Given the description of an element on the screen output the (x, y) to click on. 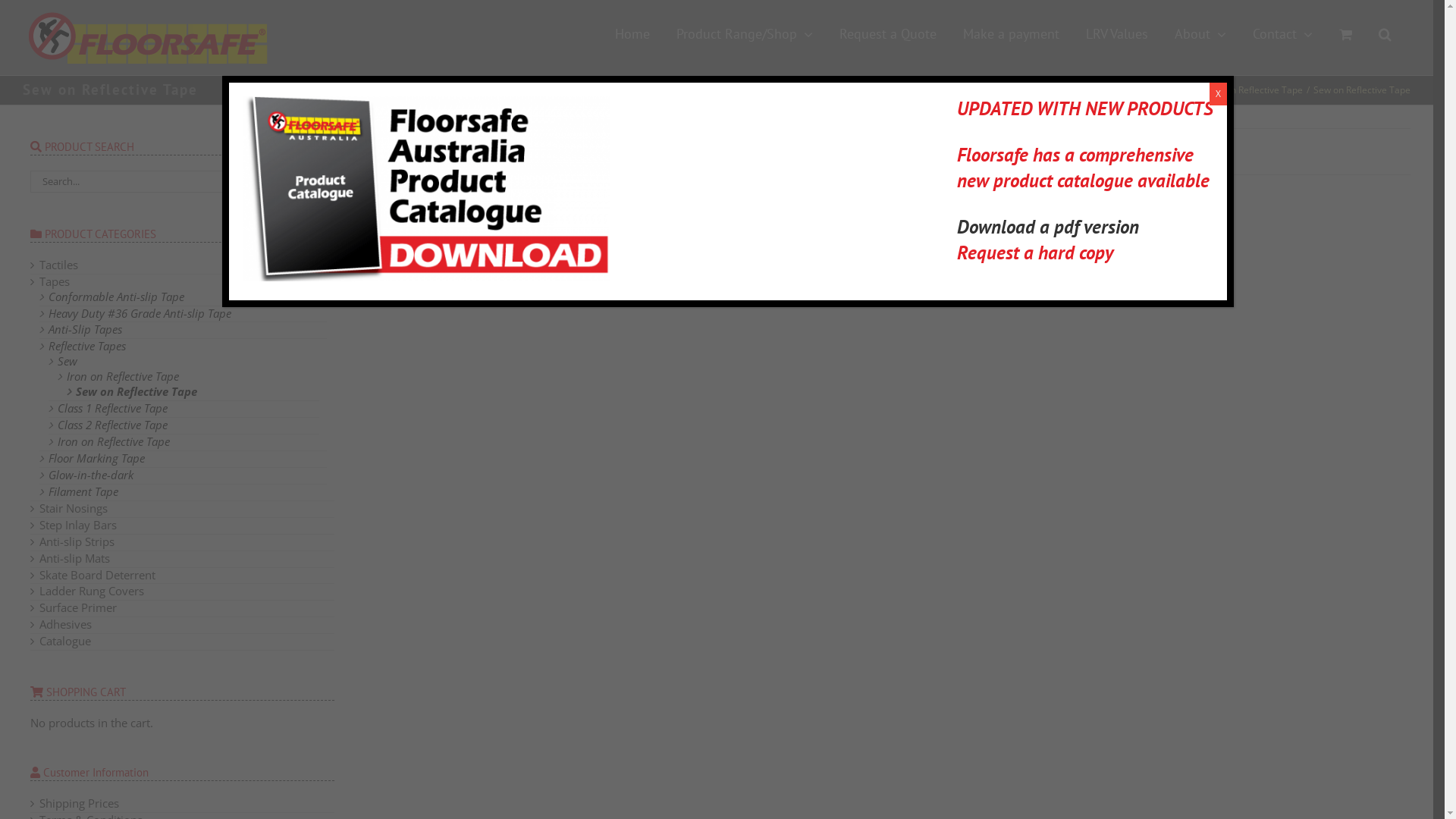
Contact Element type: text (1282, 34)
Request a Quote Element type: text (887, 34)
Home Element type: text (1038, 89)
Step Inlay Bars Element type: text (77, 524)
Tapes Element type: text (1075, 89)
Filament Tape Element type: text (83, 490)
Adhesives Element type: text (65, 623)
About Element type: text (1200, 34)
Iron on Reflective Tape Element type: text (1254, 89)
Reflective Tapes Element type: text (1132, 89)
Sew Element type: text (67, 360)
Floor Marking Tape Element type: text (96, 457)
Ladder Rung Covers Element type: text (91, 590)
Home Element type: text (632, 34)
Anti-slip Strips Element type: text (76, 541)
Search Element type: hover (1385, 34)
Iron on Reflective Tape Element type: text (113, 440)
Anti-Slip Tapes Element type: text (85, 328)
Sew on Reflective Tape Element type: text (136, 390)
LRV Values Element type: text (1116, 34)
Catalogue Element type: text (65, 640)
Download a pdf version Element type: text (1048, 226)
Reflective Tapes Element type: text (86, 345)
Anti-slip Mats Element type: text (74, 557)
Iron on Reflective Tape Element type: text (122, 375)
Tactiles Element type: text (58, 264)
Skate Board Deterrent Element type: text (97, 574)
Sew Element type: text (1186, 89)
Surface Primer Element type: text (77, 607)
Tapes Element type: text (54, 280)
Make a payment Element type: text (1010, 34)
Class 1 Reflective Tape Element type: text (112, 407)
Class 2 Reflective Tape Element type: text (112, 424)
X Element type: text (1217, 93)
Product Range/Shop Element type: text (744, 34)
Conformable Anti-slip Tape Element type: text (116, 296)
Shipping Prices Element type: text (79, 802)
Heavy Duty #36 Grade Anti-slip Tape Element type: text (139, 312)
Stair Nosings Element type: text (73, 507)
Glow-in-the-dark Element type: text (90, 474)
